Given the description of an element on the screen output the (x, y) to click on. 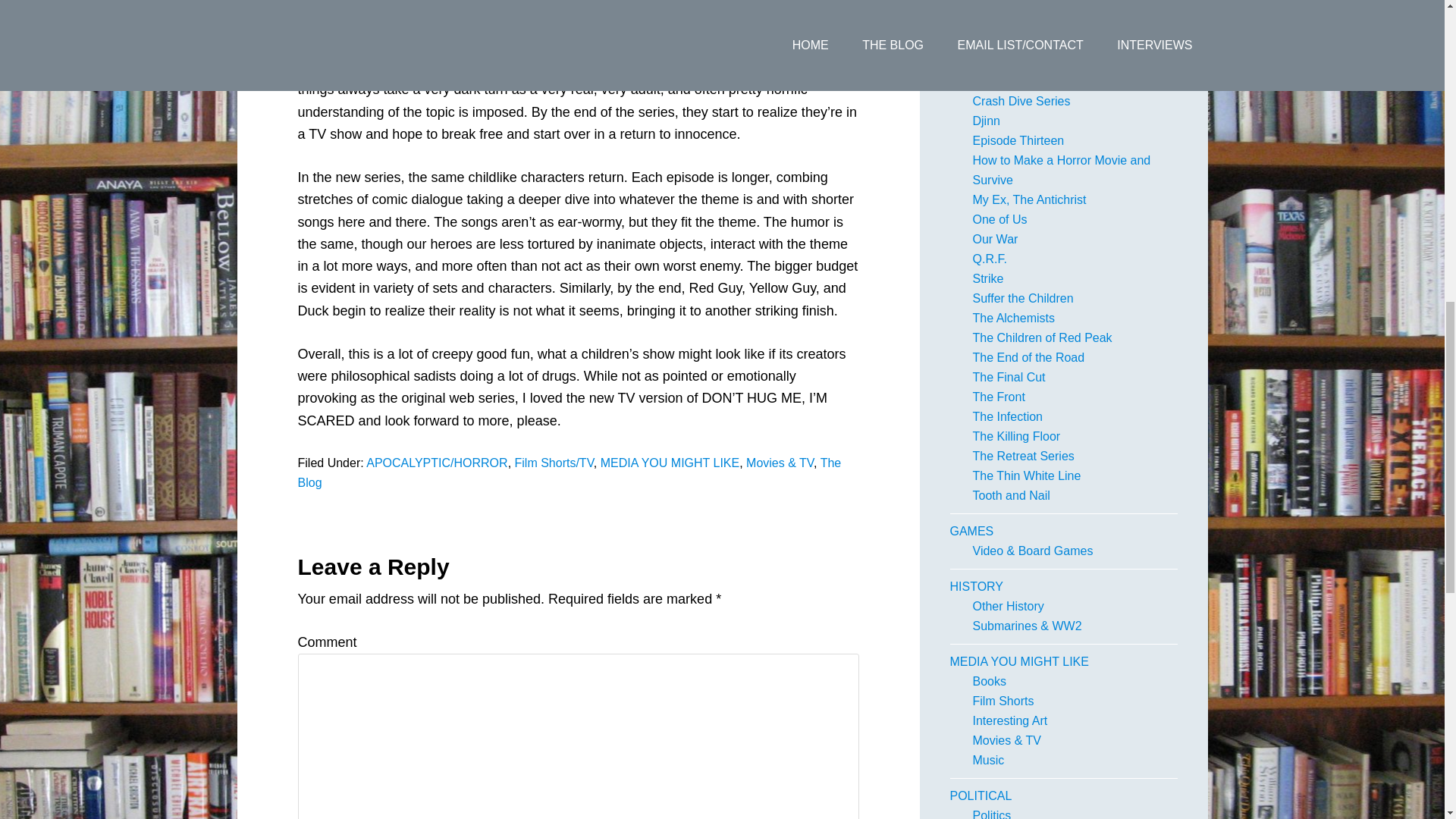
CRAIG'S WORK (994, 42)
Episode Thirteen (1018, 140)
Djinn (985, 120)
Crash Dive Series (1021, 101)
Aviator Series (1009, 81)
How to Make a Horror Movie and Survive (1061, 169)
MEDIA YOU MIGHT LIKE (669, 462)
Comic Books (1007, 6)
The Blog (569, 472)
Armor Series (1007, 61)
